Given the description of an element on the screen output the (x, y) to click on. 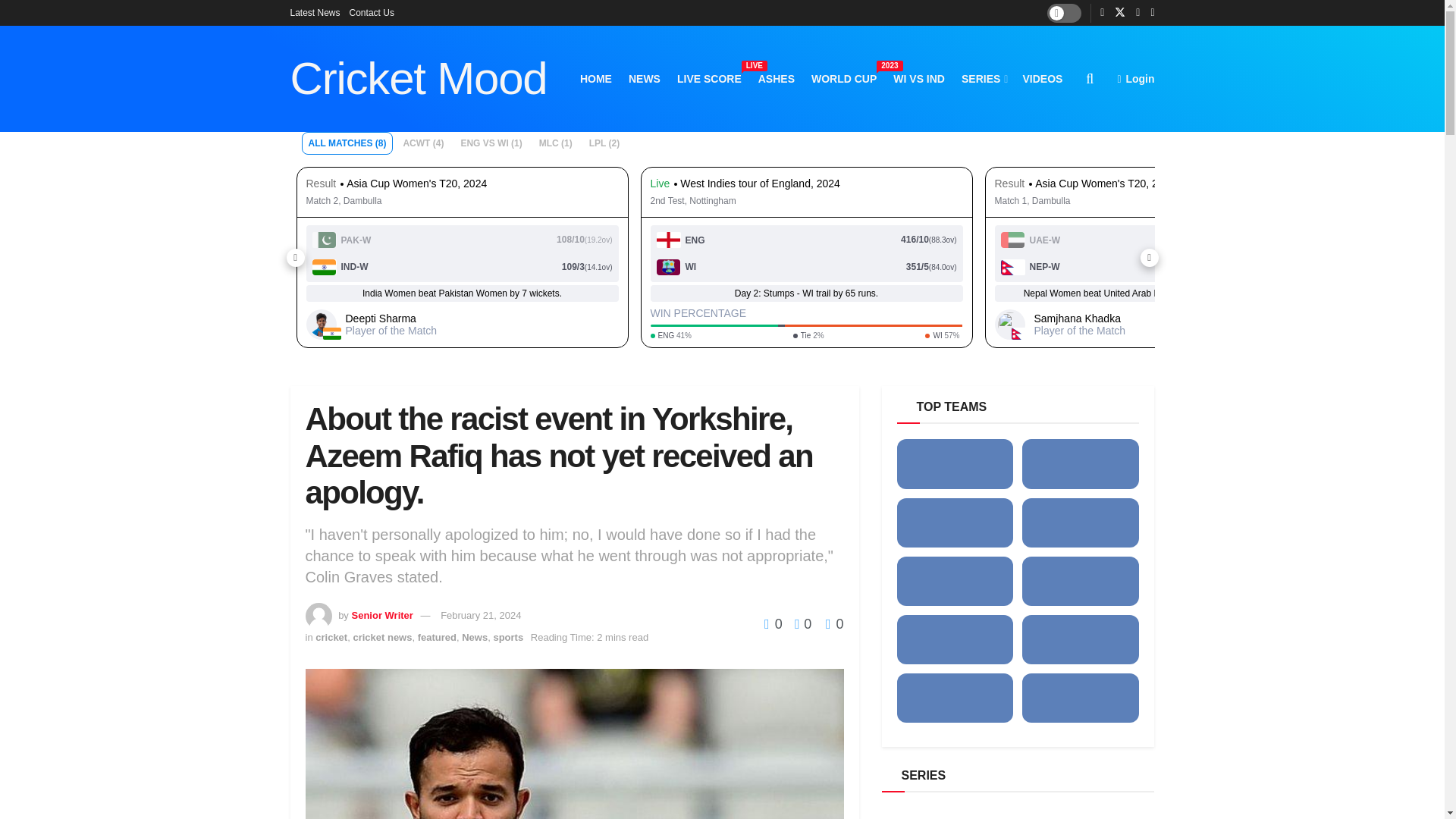
Latest News (843, 78)
Contact Us (314, 12)
Login (371, 12)
WI VS IND (1135, 78)
ASHES (918, 78)
SERIES (709, 78)
VIDEOS (776, 78)
HOME (983, 78)
NEWS (1042, 78)
Cricket Mood (595, 78)
